Given the description of an element on the screen output the (x, y) to click on. 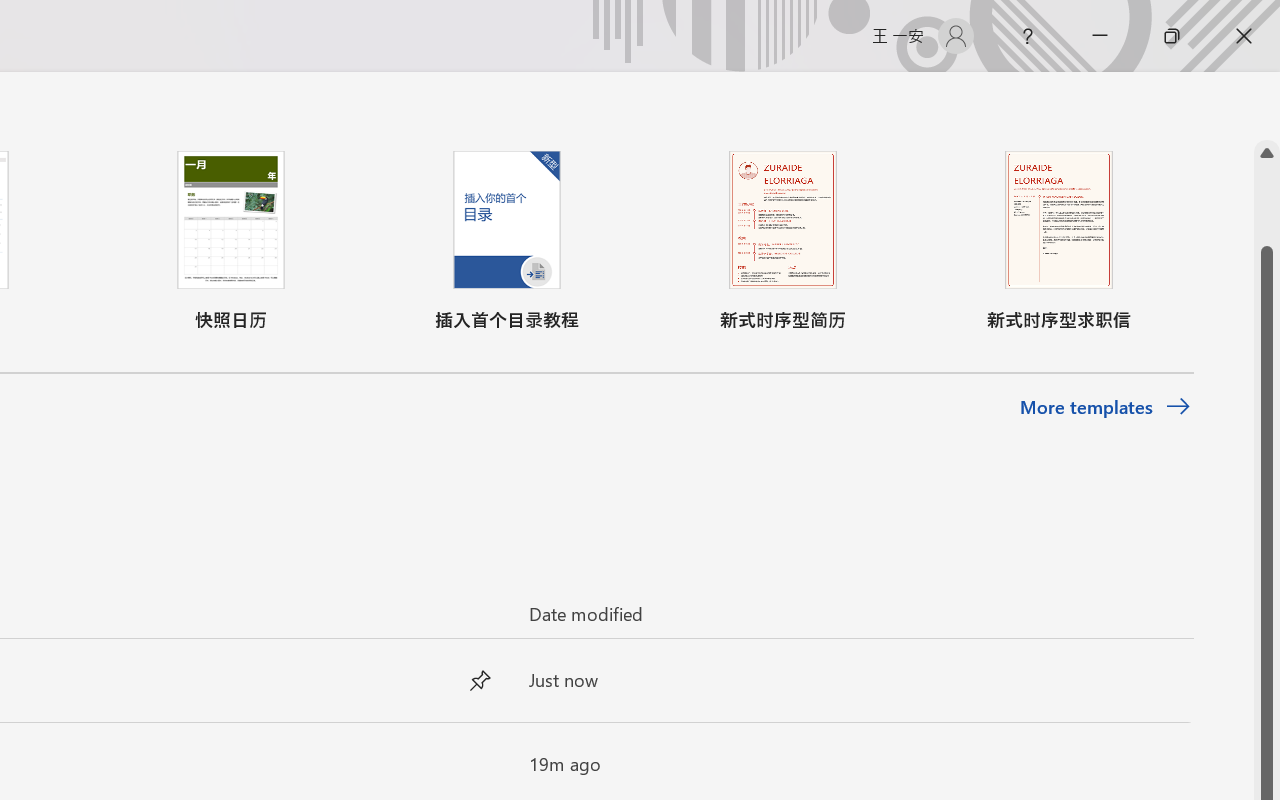
Line up (1267, 153)
Pin this item to the list (480, 764)
Page up (1267, 206)
Unpin this item from the list (480, 680)
More templates (1105, 407)
